Given the description of an element on the screen output the (x, y) to click on. 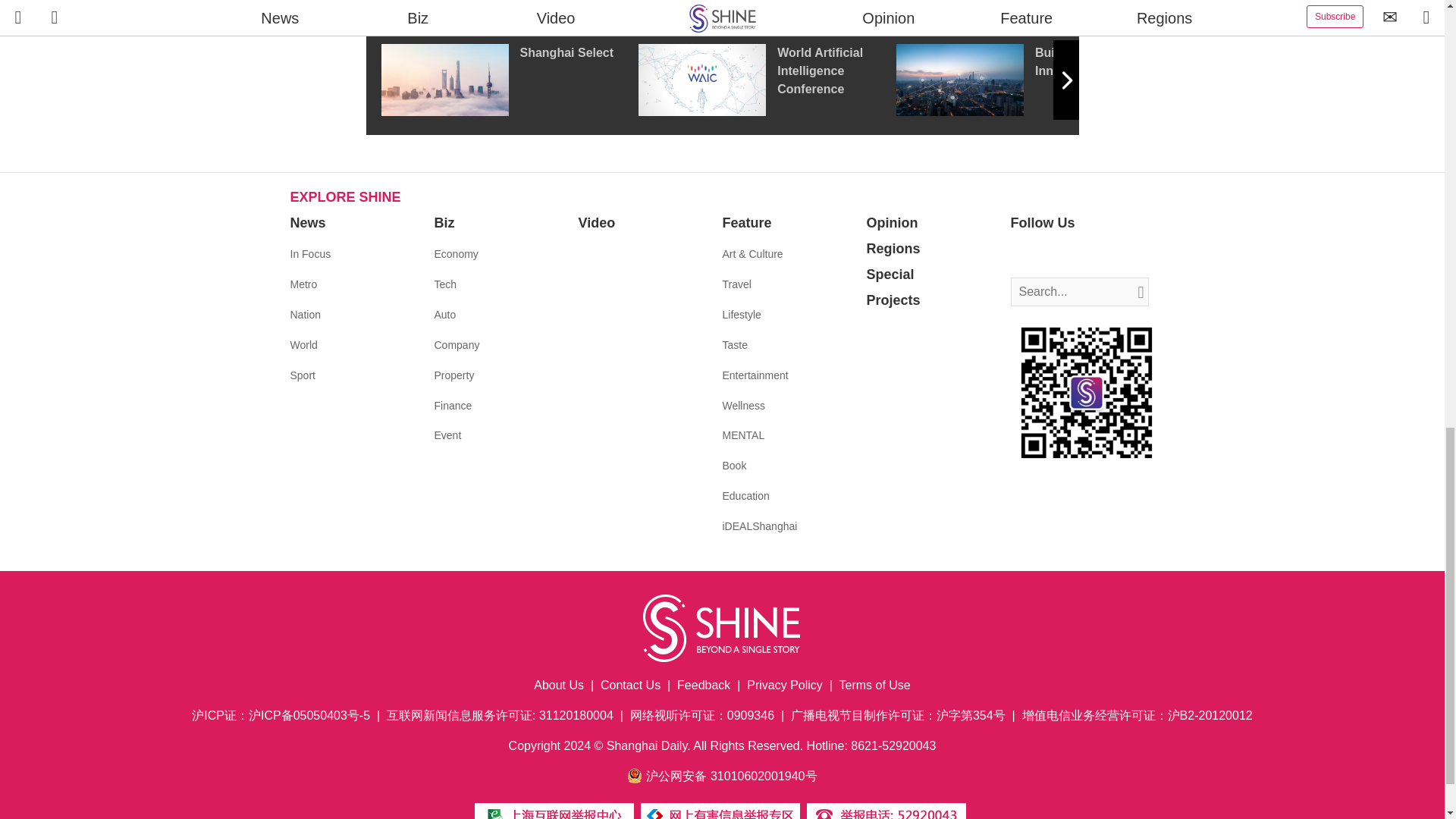
Follow us on Instagram (1067, 254)
Special Reports (721, 9)
Follow us on Wechat (1112, 254)
Shanghai Select (508, 79)
Follow us on Youtube (1090, 254)
World Artificial Intelligence Conference (767, 79)
Follow us on Facebook (1021, 254)
Building an Innovation Hub (1024, 79)
Follow us on Twitter (1044, 254)
